Given the description of an element on the screen output the (x, y) to click on. 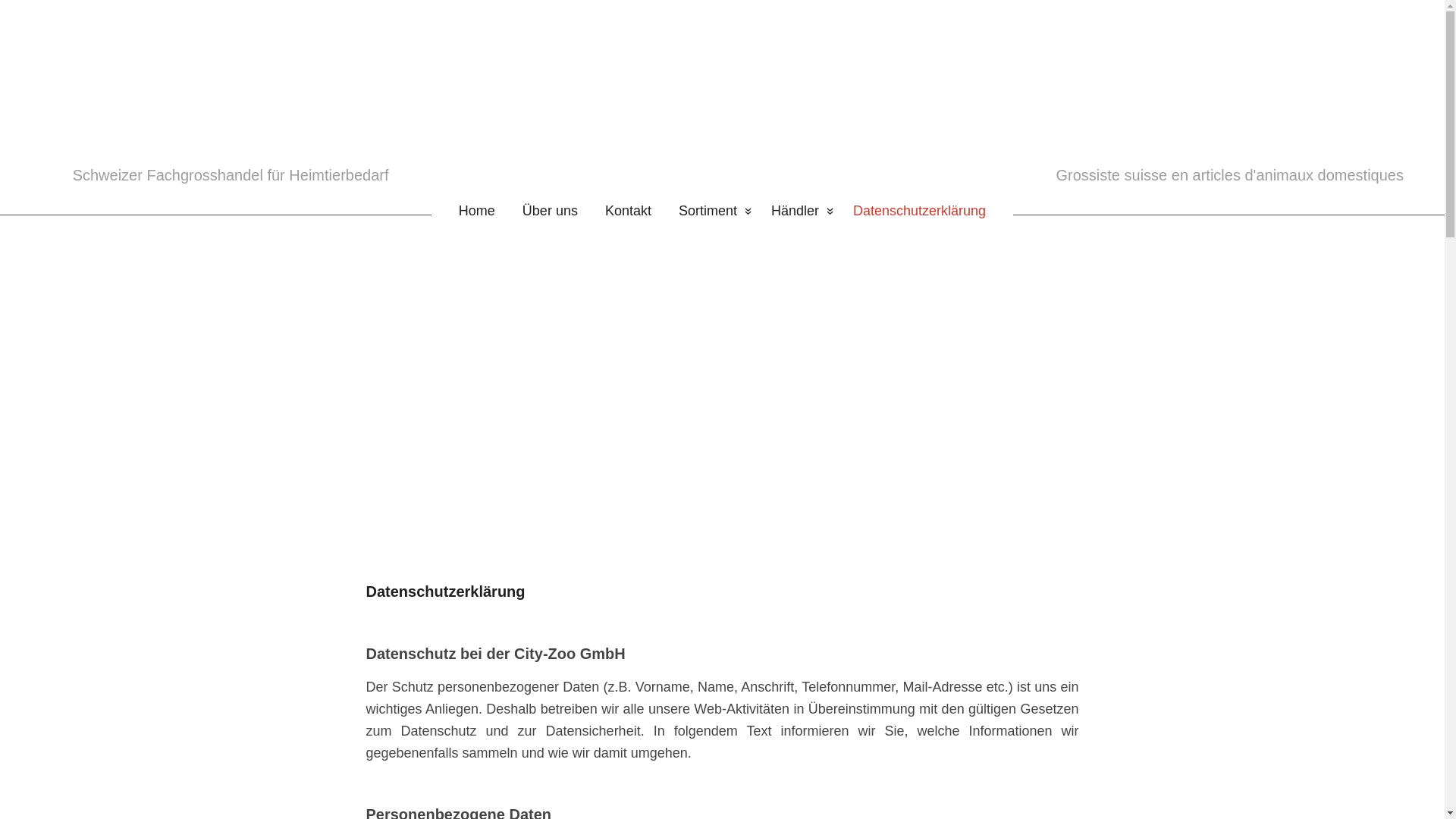
Kontakt Element type: text (628, 210)
Home Element type: text (469, 210)
Sortiment Element type: text (711, 210)
